Given the description of an element on the screen output the (x, y) to click on. 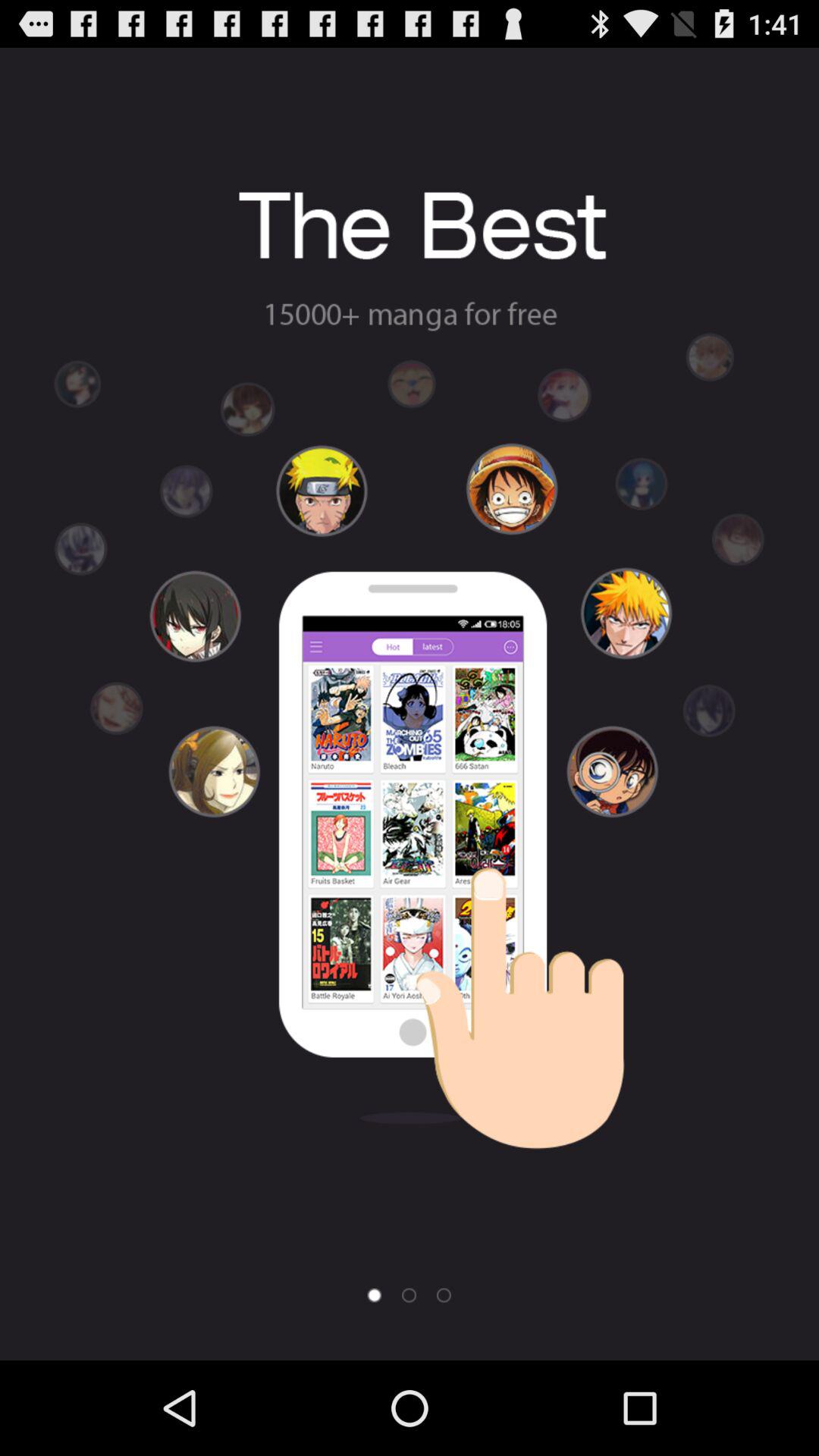
dot (443, 1294)
